Given the description of an element on the screen output the (x, y) to click on. 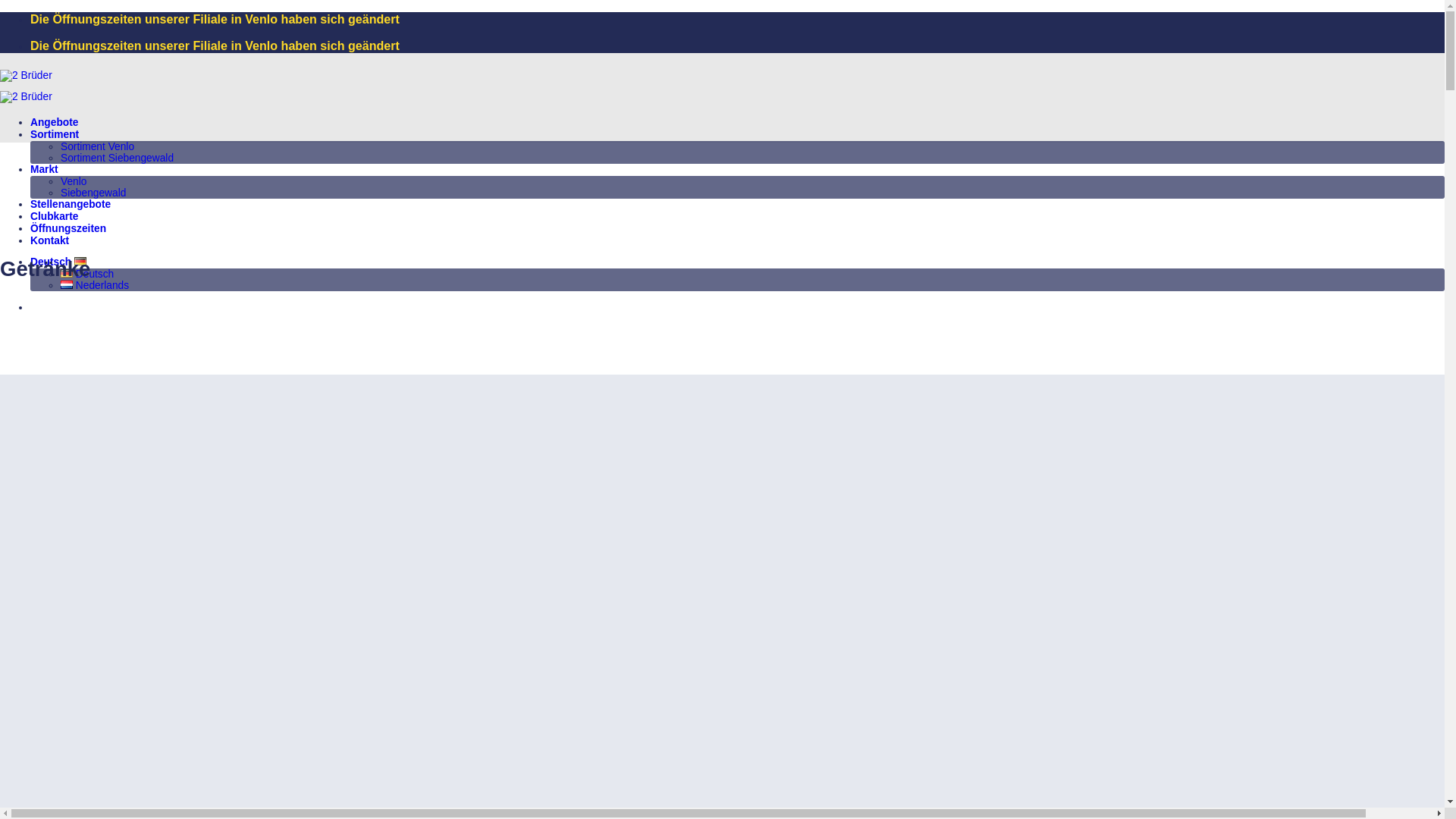
Kontakt Element type: text (49, 240)
Deutsch Element type: text (58, 261)
Deutsch Element type: text (86, 273)
Siebengewald Element type: text (92, 192)
Sortiment Venlo Element type: text (97, 146)
Markt Element type: text (44, 169)
Sortiment Element type: text (54, 134)
Stellenangebote Element type: text (70, 204)
Venlo Element type: text (73, 181)
Nederlands Element type: text (94, 285)
Angebote Element type: text (54, 122)
Sortiment Siebengewald Element type: text (116, 157)
Clubkarte Element type: text (54, 216)
